Given the description of an element on the screen output the (x, y) to click on. 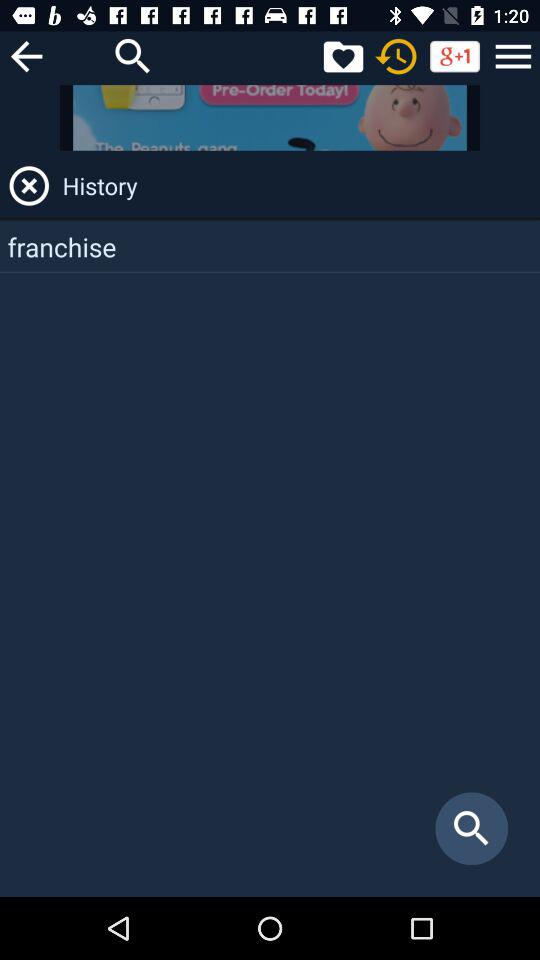
open menu (513, 56)
